Given the description of an element on the screen output the (x, y) to click on. 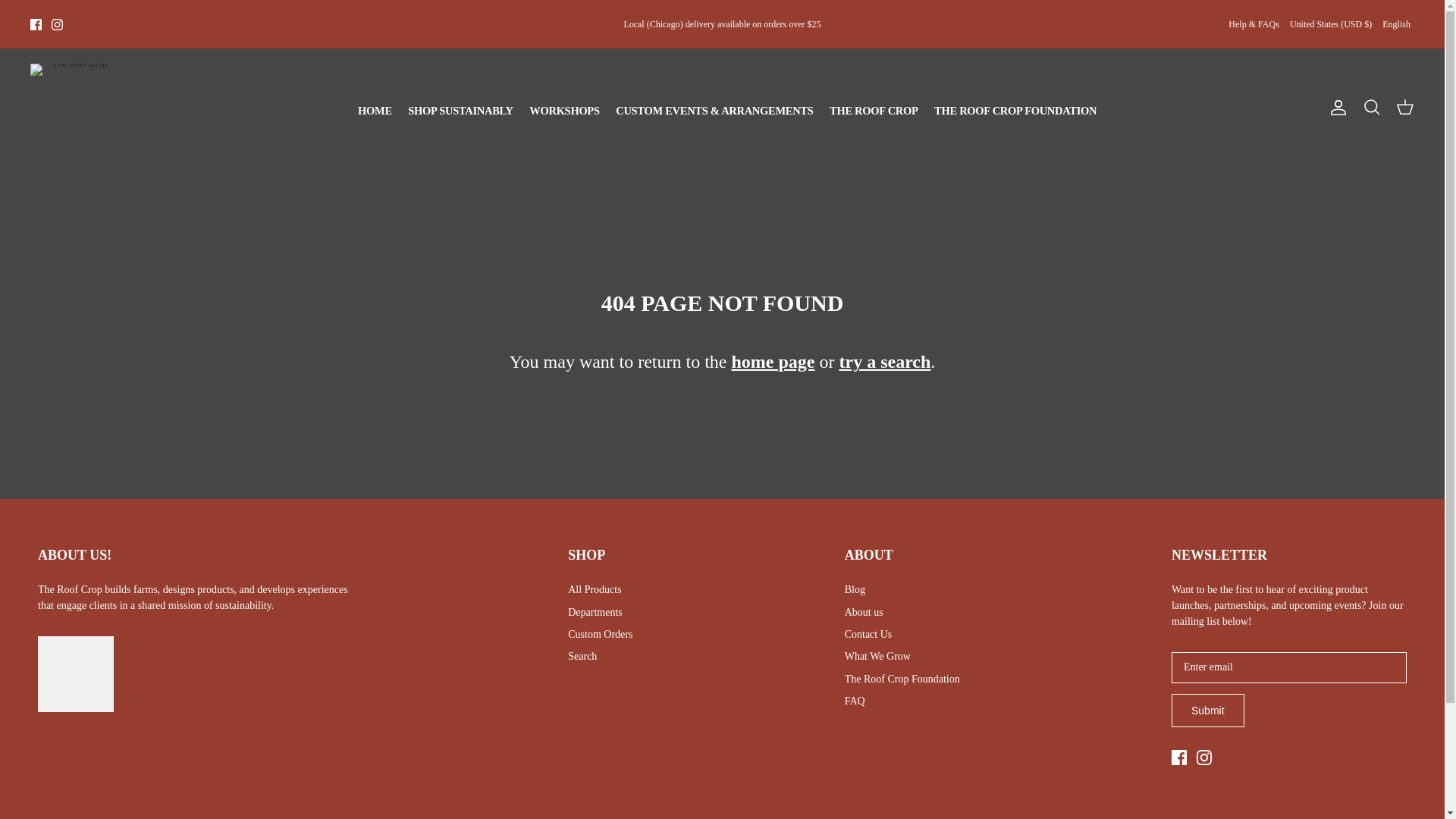
All Products (594, 589)
The Roof Crop (73, 106)
home page (771, 361)
HOME (367, 106)
Departments (595, 612)
Custom Orders (599, 633)
THE ROOF CROP (866, 106)
WORKSHOPS (556, 106)
English (1395, 23)
Search (1371, 107)
